Given the description of an element on the screen output the (x, y) to click on. 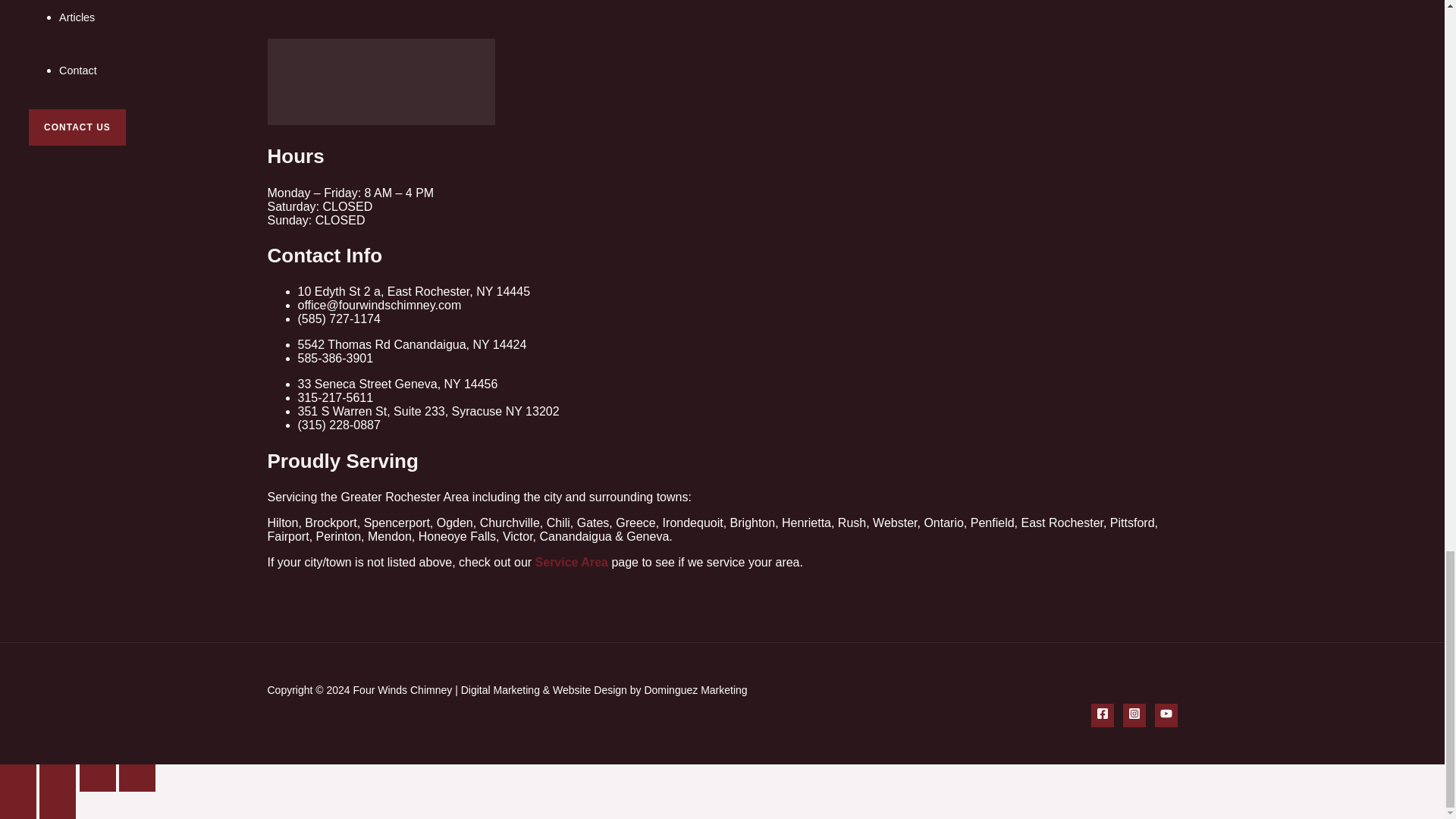
Articles (76, 17)
